Given the description of an element on the screen output the (x, y) to click on. 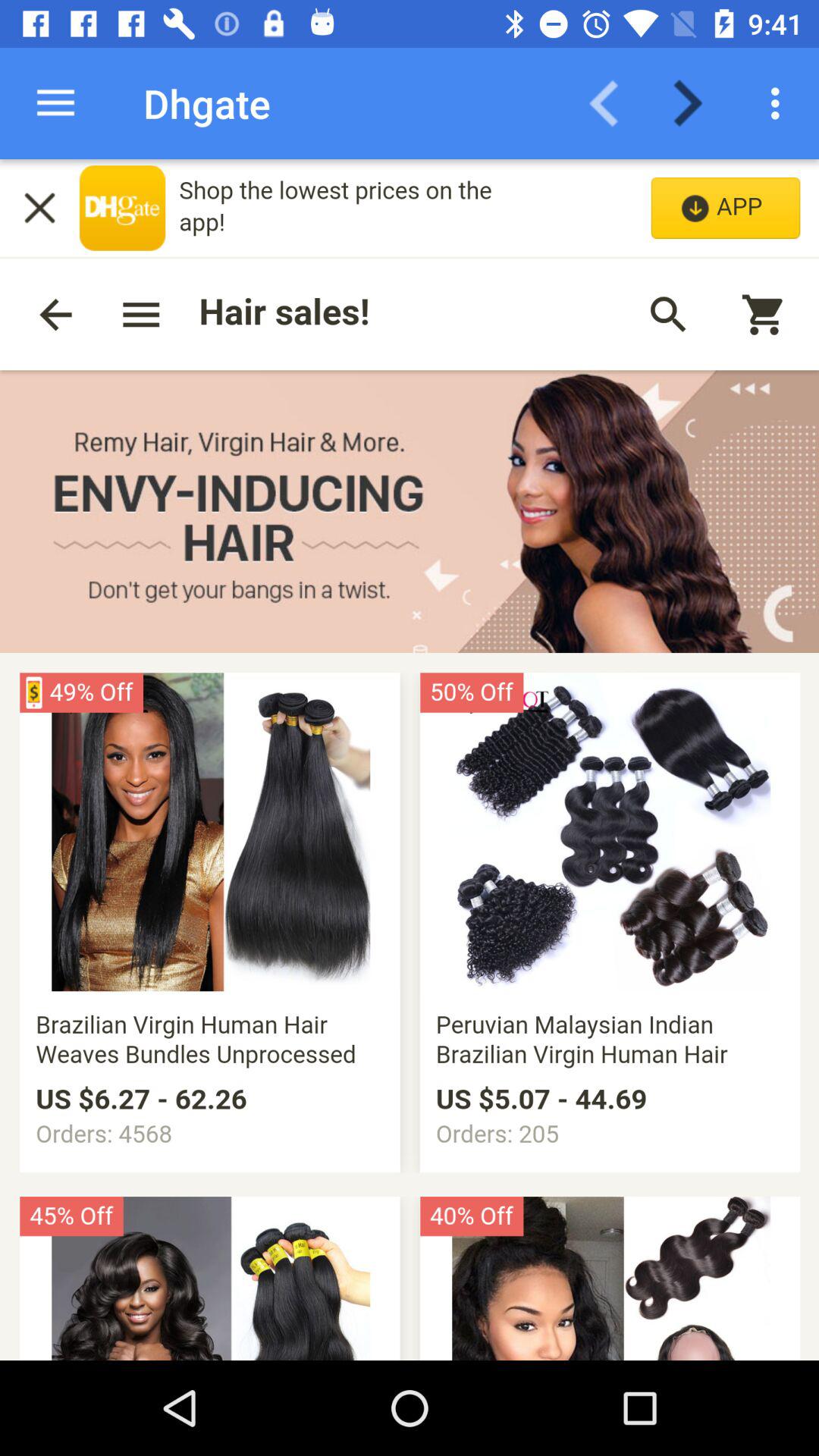
go to back arrow (613, 103)
